Given the description of an element on the screen output the (x, y) to click on. 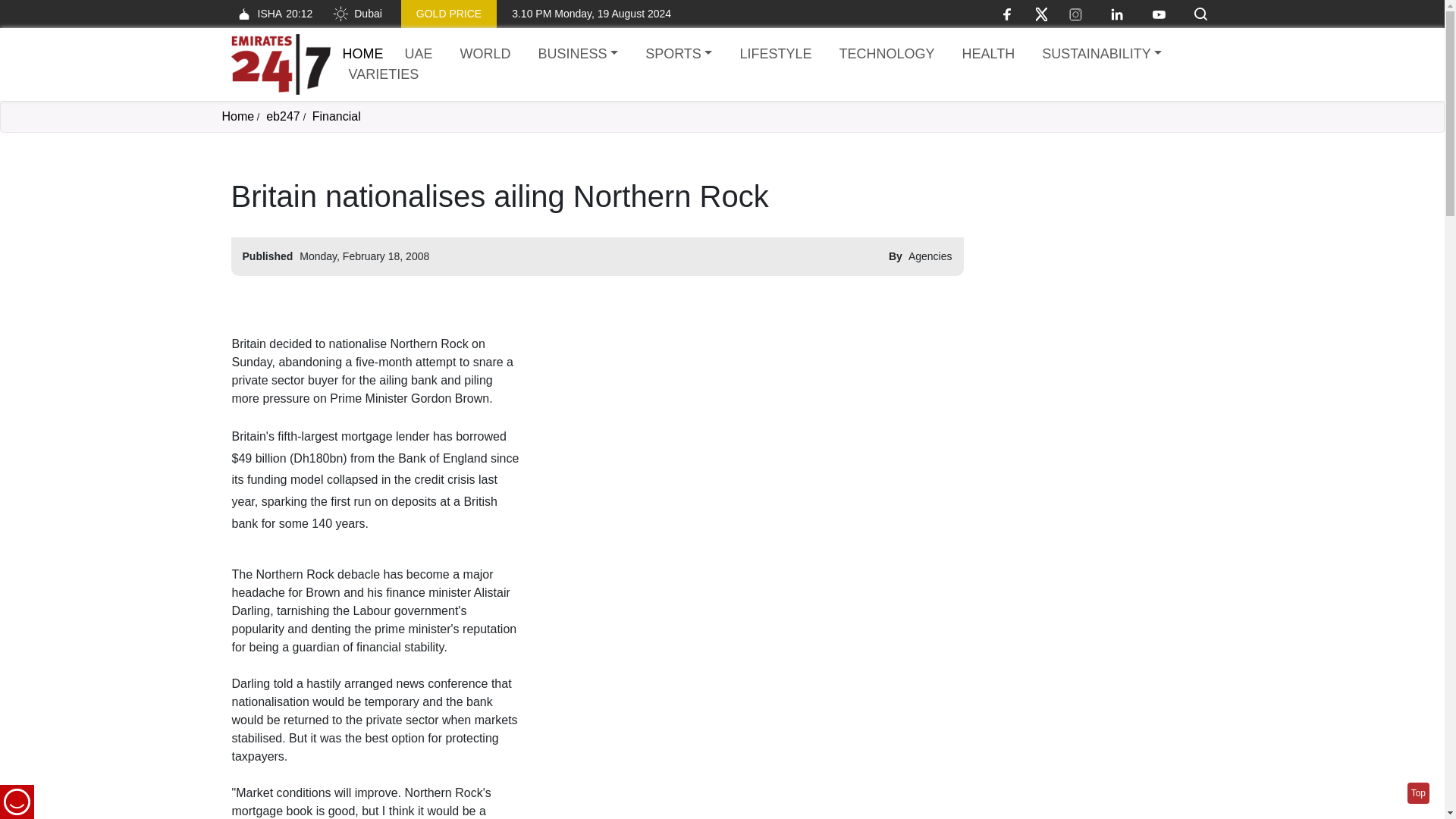
UAE (418, 54)
SUSTAINABILITY (1101, 54)
TECHNOLOGY (886, 54)
Home (237, 115)
WORLD (485, 54)
LIFESTYLE (774, 54)
VARIETIES (271, 13)
HOME (383, 74)
SPORTS (363, 53)
